Given the description of an element on the screen output the (x, y) to click on. 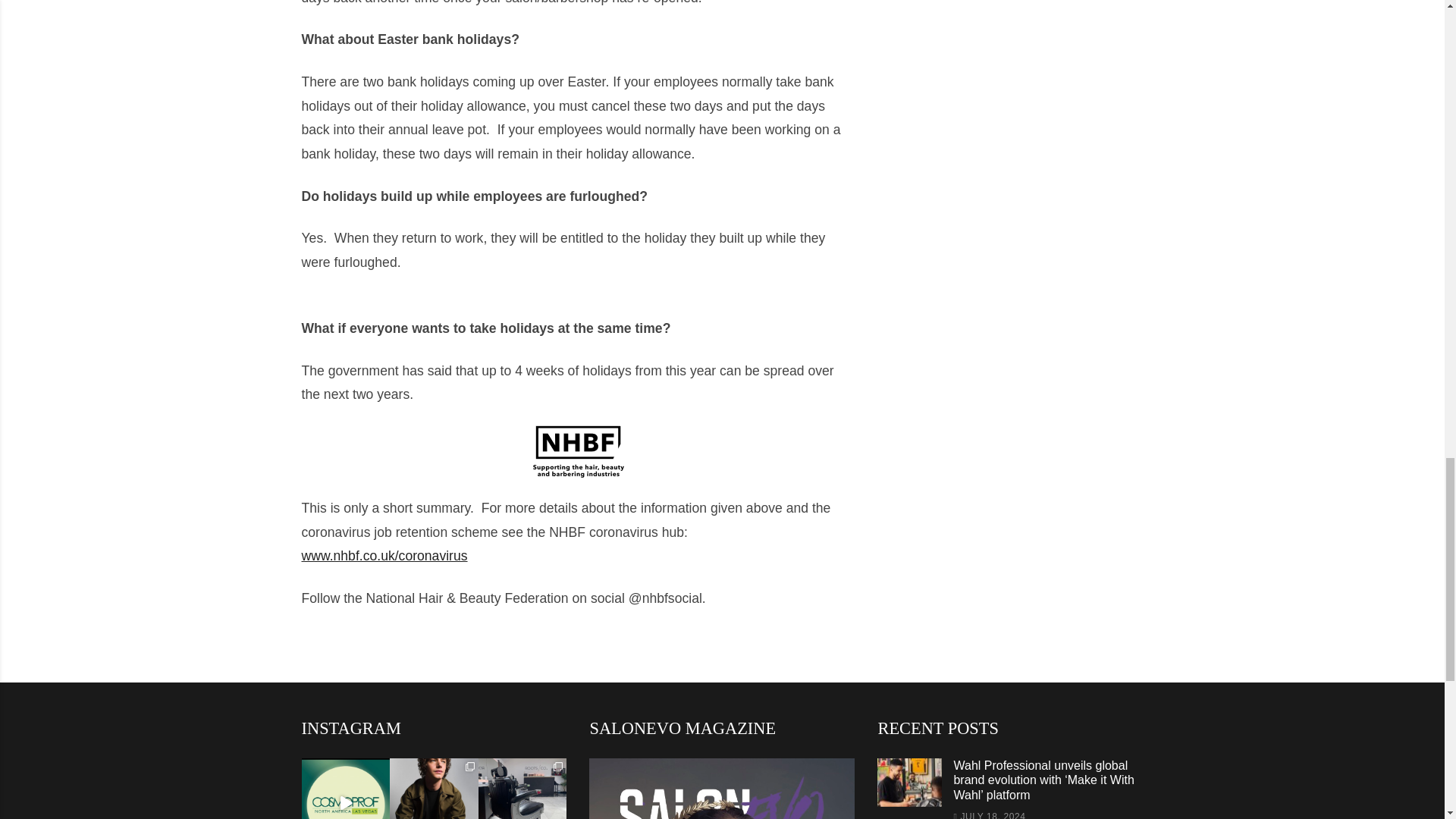
SalonEVO Magazine (721, 788)
